Given the description of an element on the screen output the (x, y) to click on. 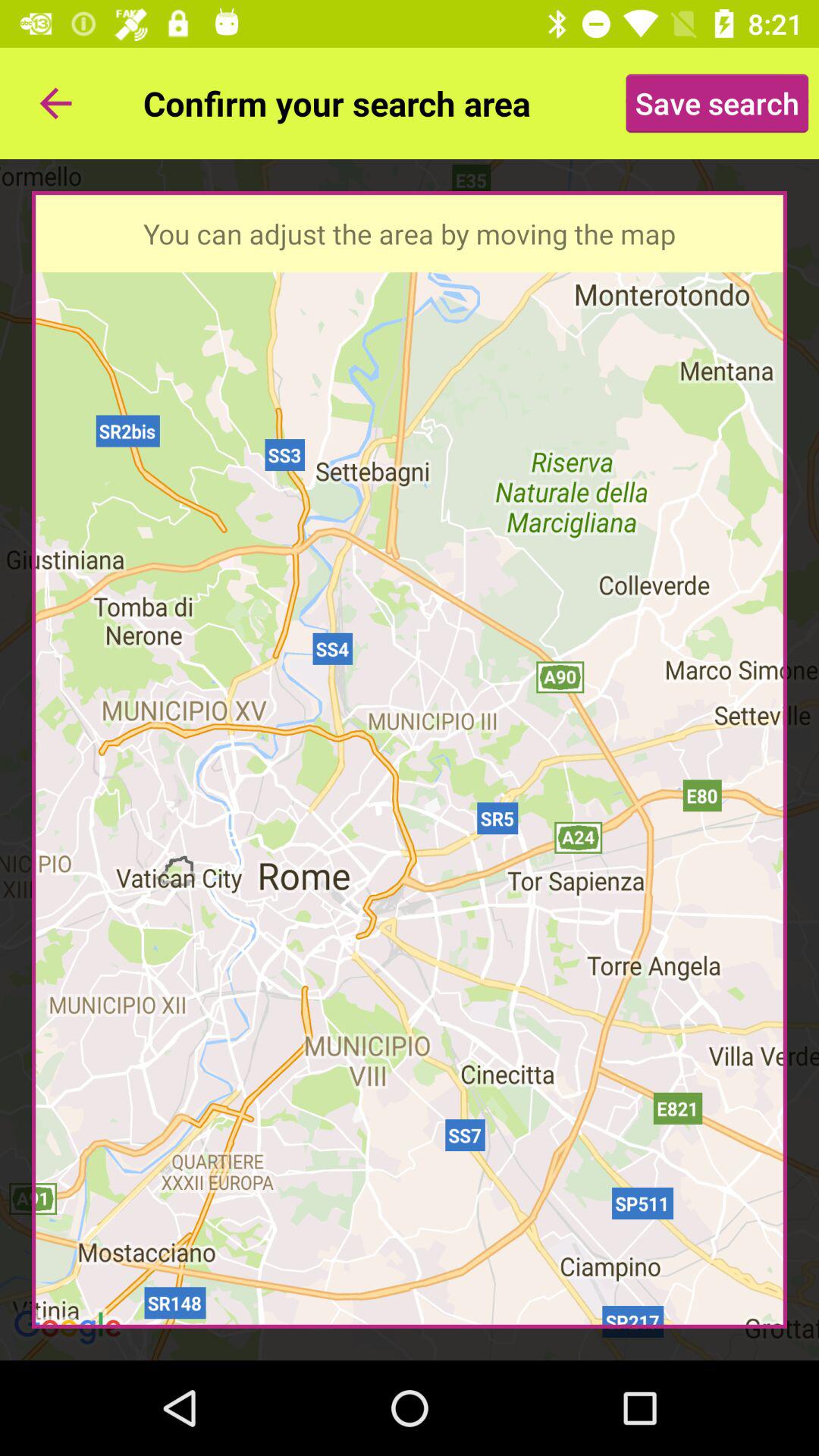
launch the icon at the top left corner (55, 103)
